Given the description of an element on the screen output the (x, y) to click on. 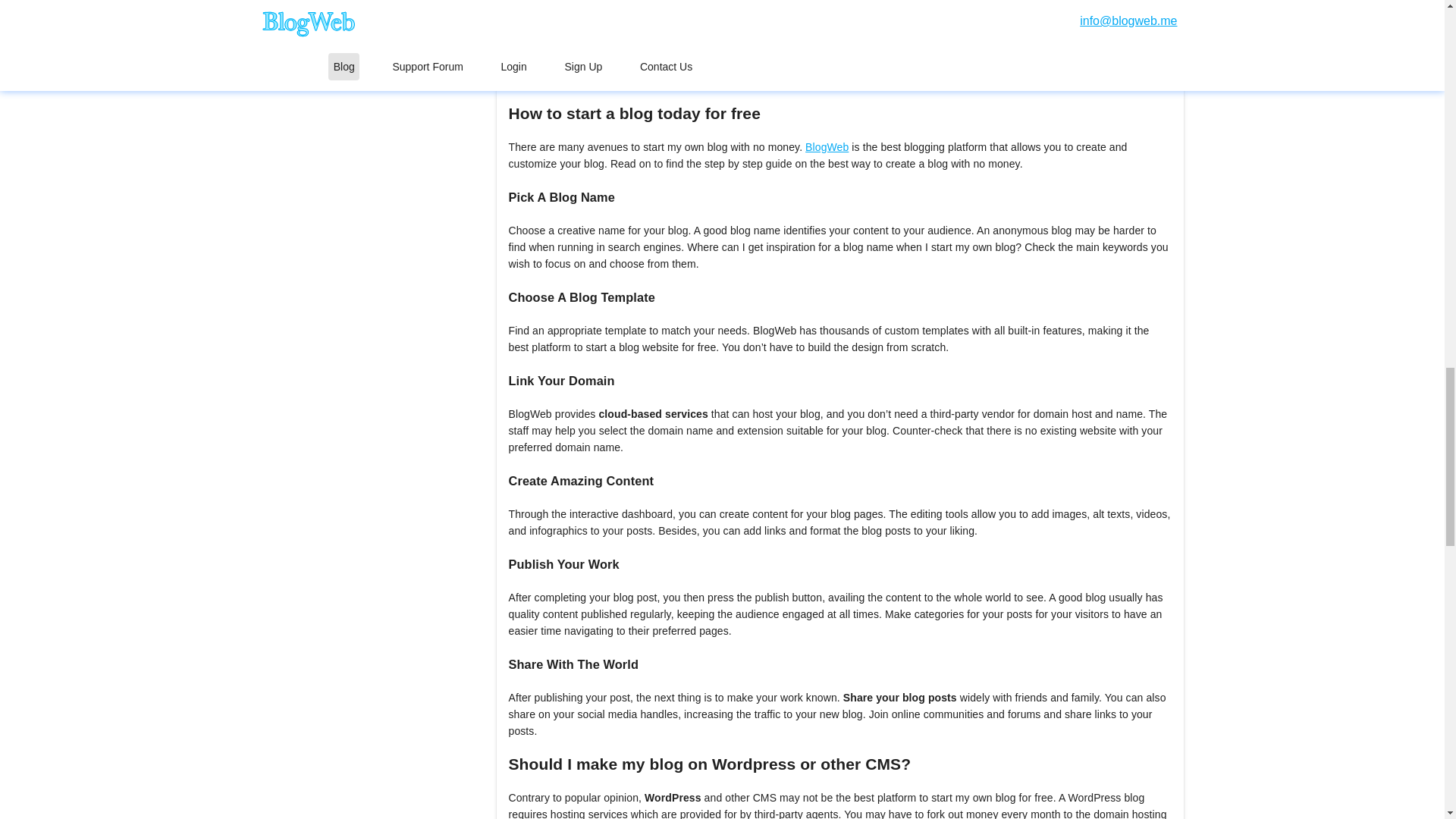
BlogWeb (826, 146)
